Given the description of an element on the screen output the (x, y) to click on. 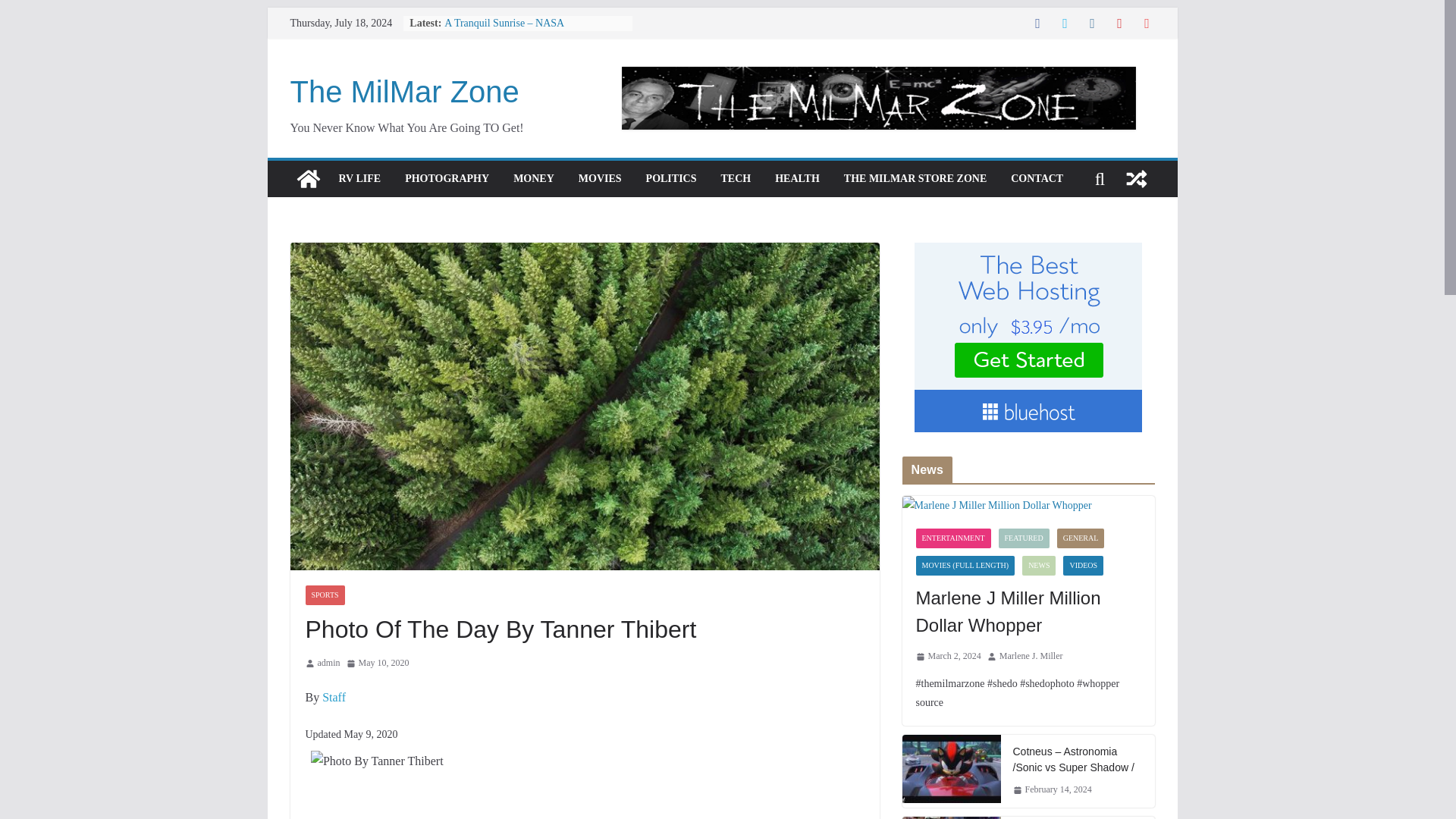
MONEY (533, 178)
The MilMar Zone (403, 91)
admin (328, 663)
May 10, 2020 (377, 663)
admin (328, 663)
The MilMar Zone (307, 178)
MOVIES (599, 178)
PHOTOGRAPHY (446, 178)
Staff (333, 697)
RV LIFE (358, 178)
6:05 am (377, 663)
SPORTS (323, 595)
HEALTH (796, 178)
POLITICS (671, 178)
